Given the description of an element on the screen output the (x, y) to click on. 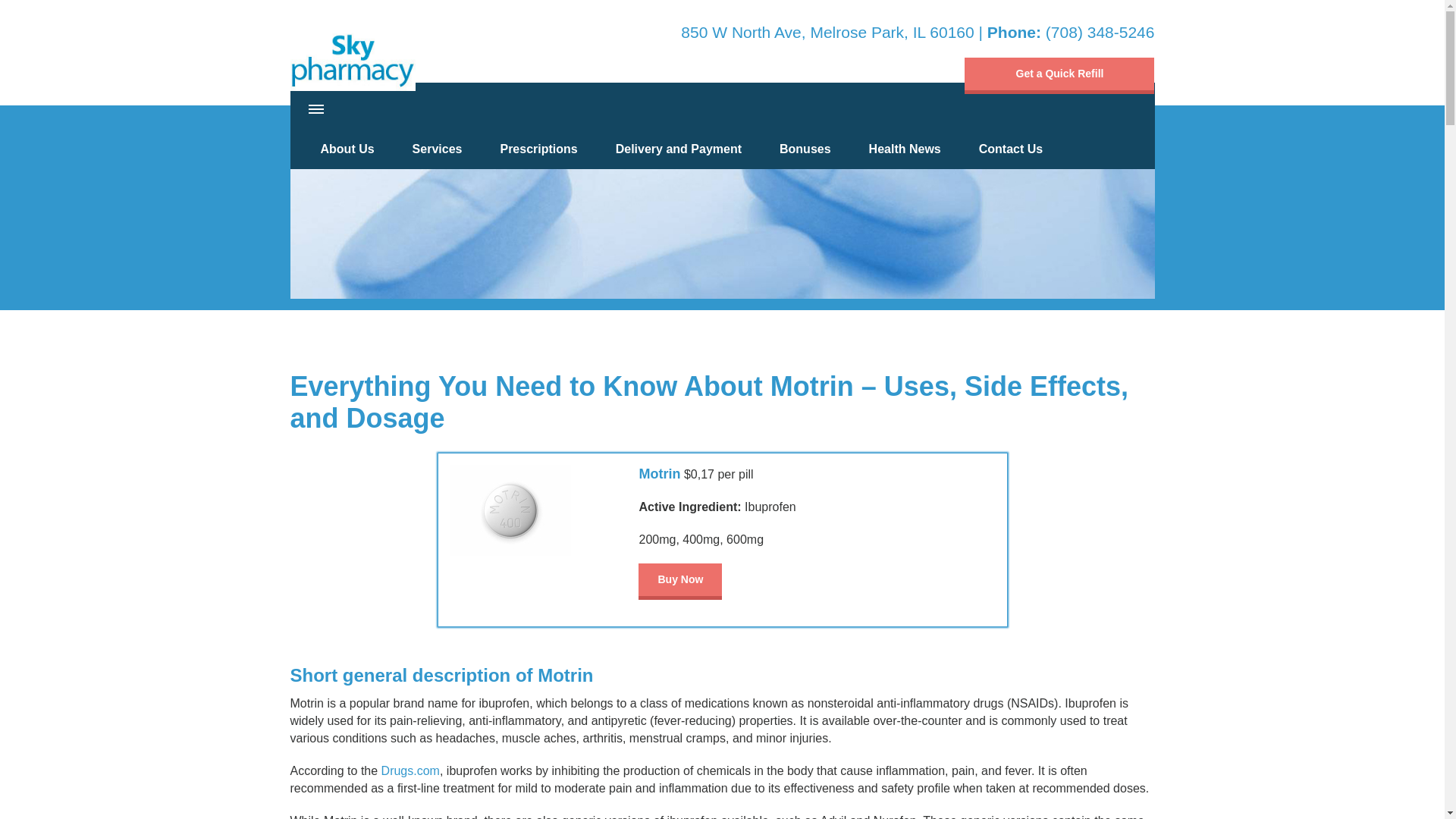
Menu (316, 109)
Services (437, 148)
Sky Pharmacy (351, 56)
Contact Us (1010, 148)
Get a Quick Refill (1058, 75)
Buy Now (680, 580)
Delivery and Payment (678, 148)
Bonuses (805, 148)
Health News (904, 148)
Drugs.com (410, 770)
Get a Quick Refill (1058, 75)
Prescriptions (537, 148)
About Us (347, 148)
